Given the description of an element on the screen output the (x, y) to click on. 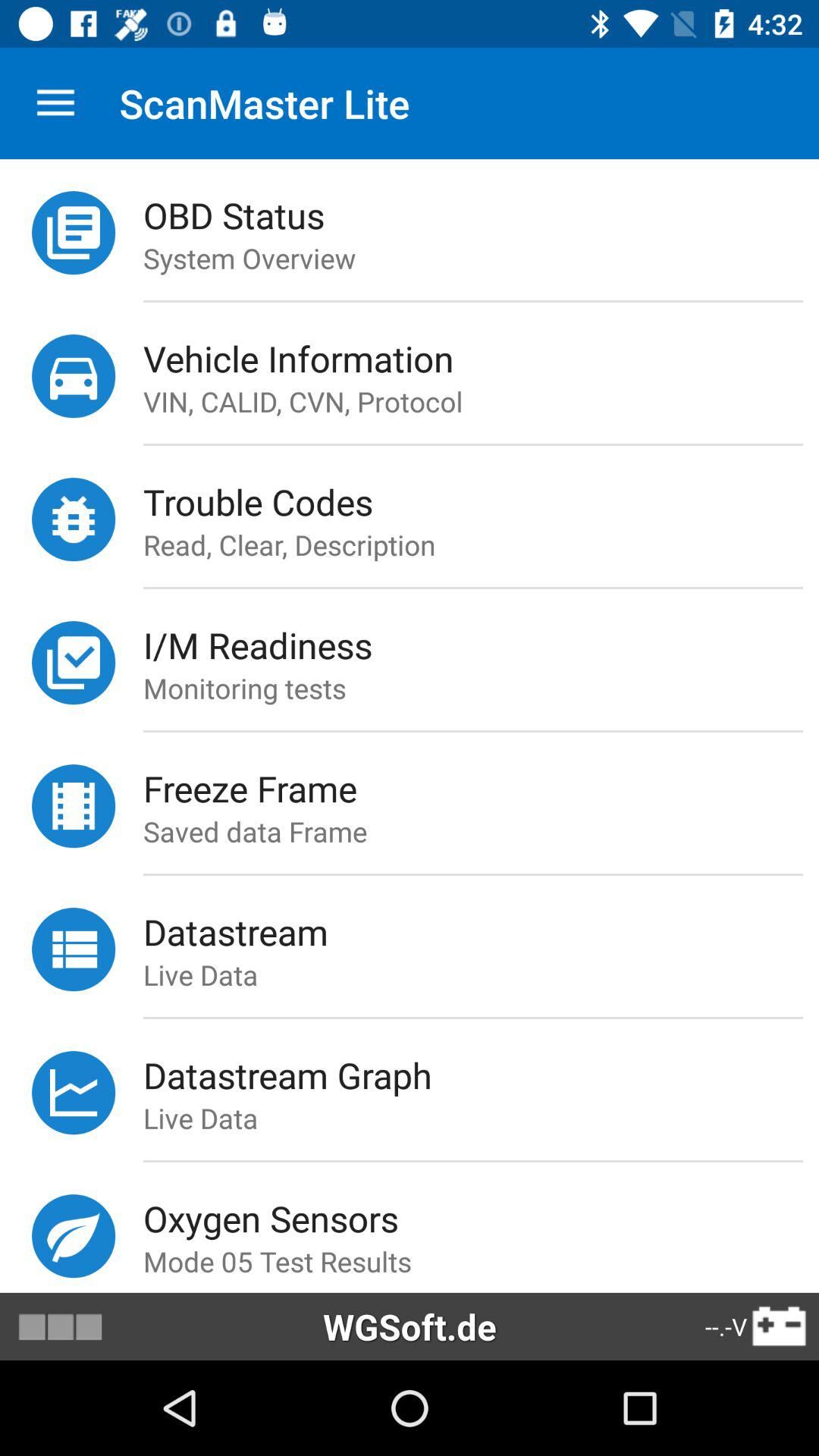
flip to trouble codes icon (481, 501)
